Given the description of an element on the screen output the (x, y) to click on. 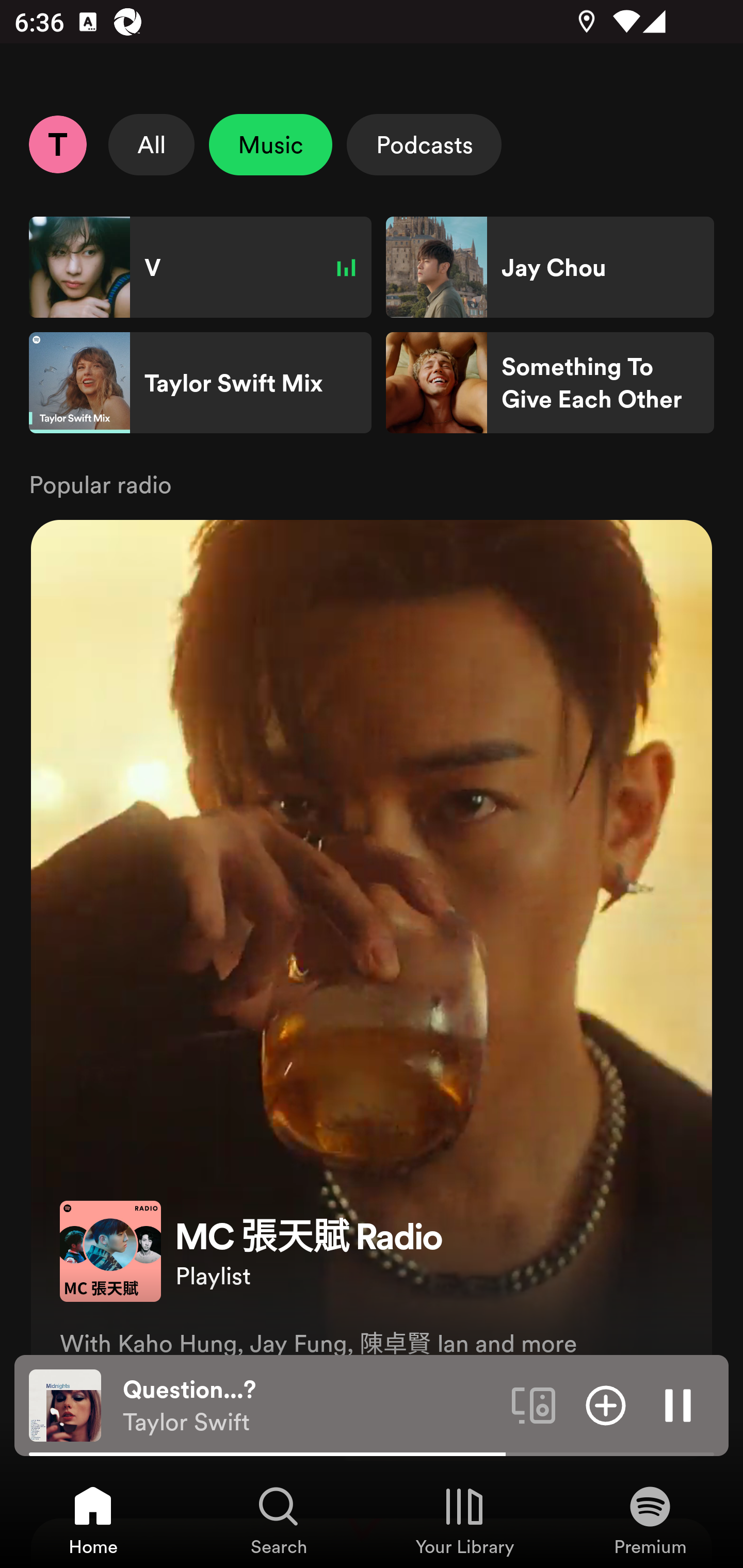
Profile (57, 144)
All Select All (151, 144)
Music Unselect Music (270, 144)
Podcasts Select Podcasts (423, 144)
V Shortcut V Playing (199, 267)
Jay Chou Shortcut Jay Chou (549, 267)
Taylor Swift Mix Shortcut Taylor Swift Mix (199, 382)
Popular radio (371, 483)
Question...? Taylor Swift (309, 1405)
The cover art of the currently playing track (64, 1404)
Connect to a device. Opens the devices menu (533, 1404)
Add item (605, 1404)
Pause (677, 1404)
Home, Tab 1 of 4 Home Home (92, 1519)
Search, Tab 2 of 4 Search Search (278, 1519)
Your Library, Tab 3 of 4 Your Library Your Library (464, 1519)
Premium, Tab 4 of 4 Premium Premium (650, 1519)
